Given the description of an element on the screen output the (x, y) to click on. 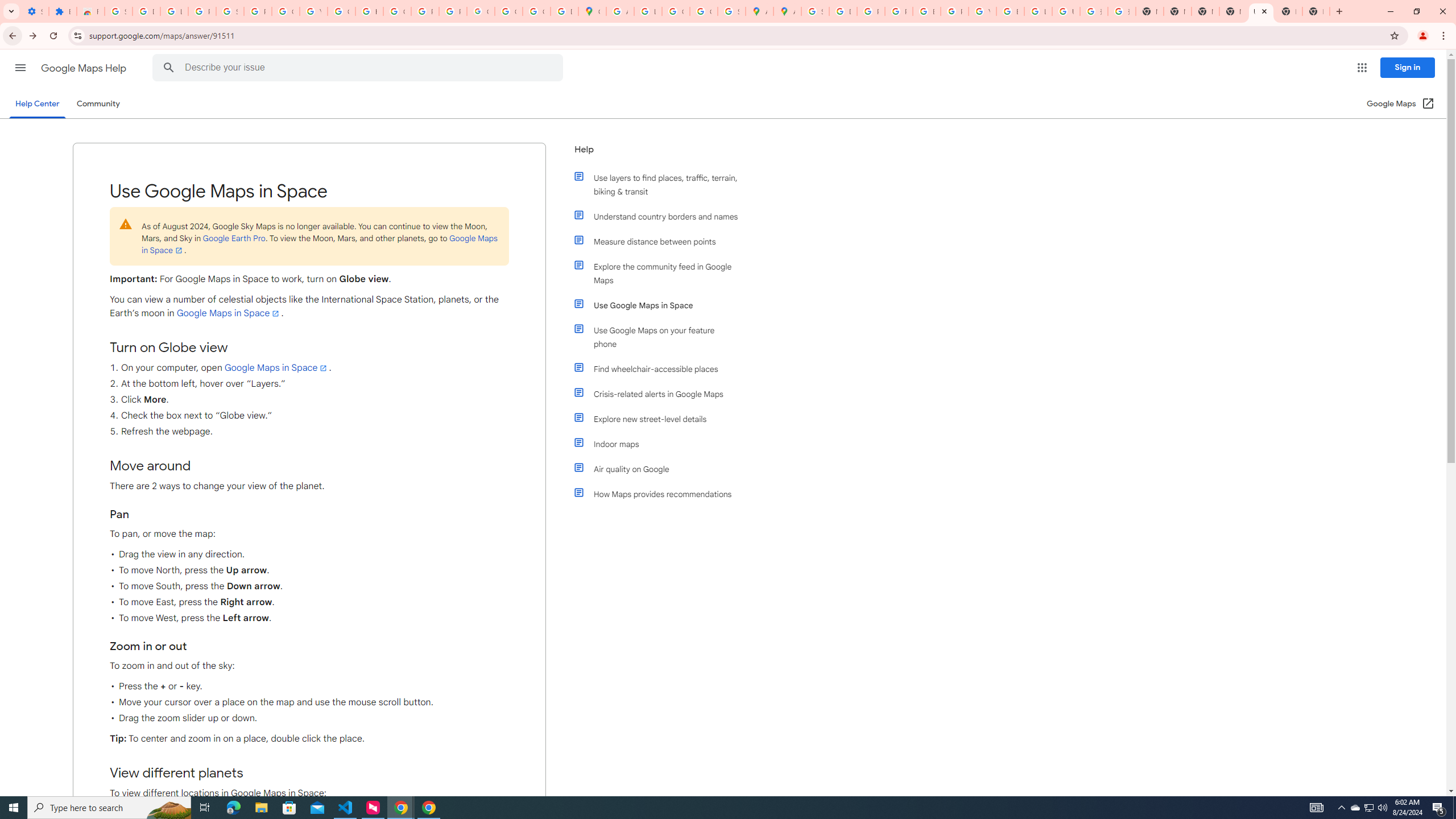
YouTube (313, 11)
Google Maps in Space (276, 367)
Main menu (20, 67)
Community (97, 103)
Crisis-related alerts in Google Maps (661, 394)
Explore the community feed in Google Maps (661, 273)
Understand country borders and names (661, 216)
